Given the description of an element on the screen output the (x, y) to click on. 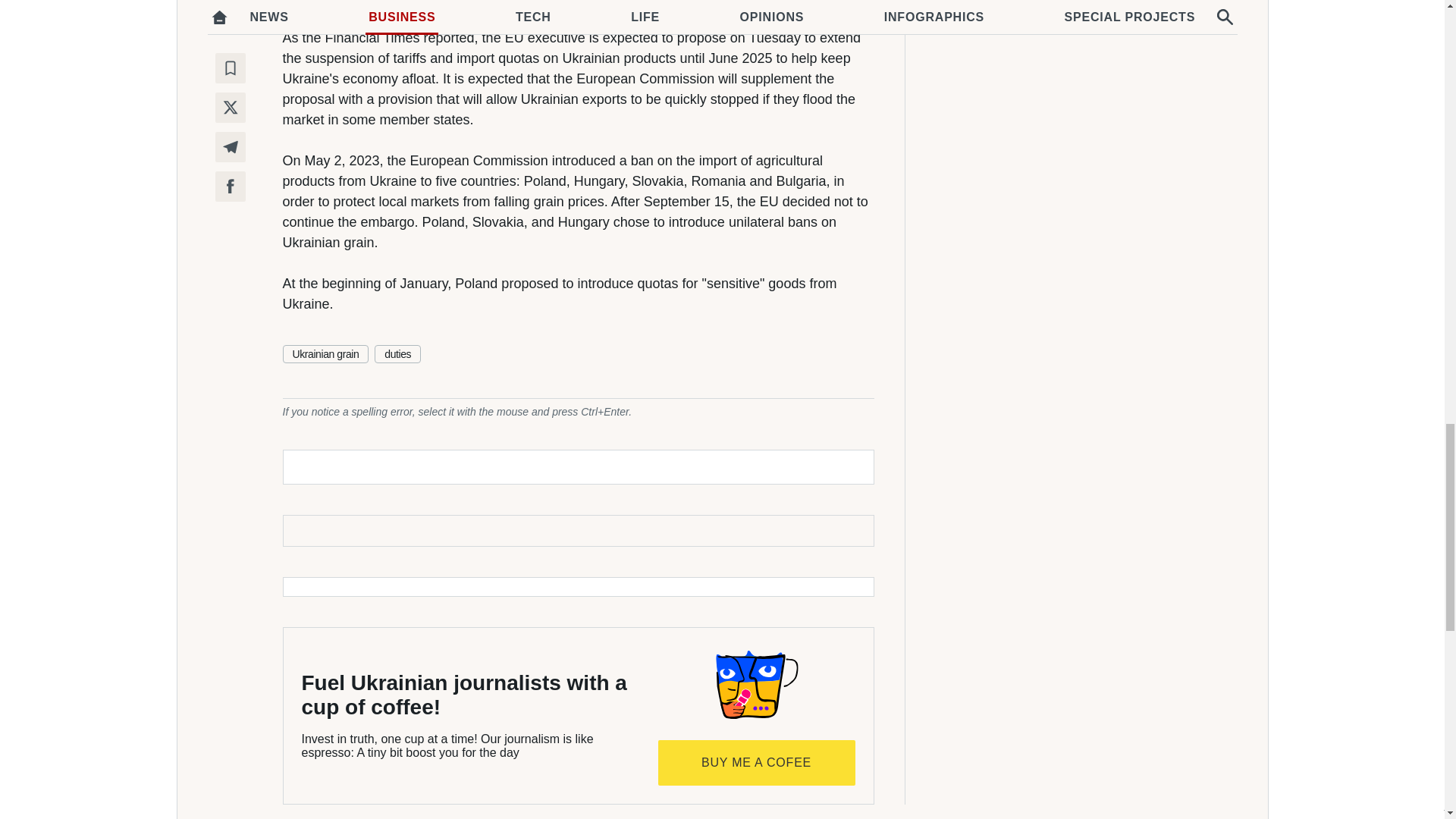
duties (397, 353)
BUY ME A COFEE (757, 762)
Ukrainian grain (325, 353)
